Given the description of an element on the screen output the (x, y) to click on. 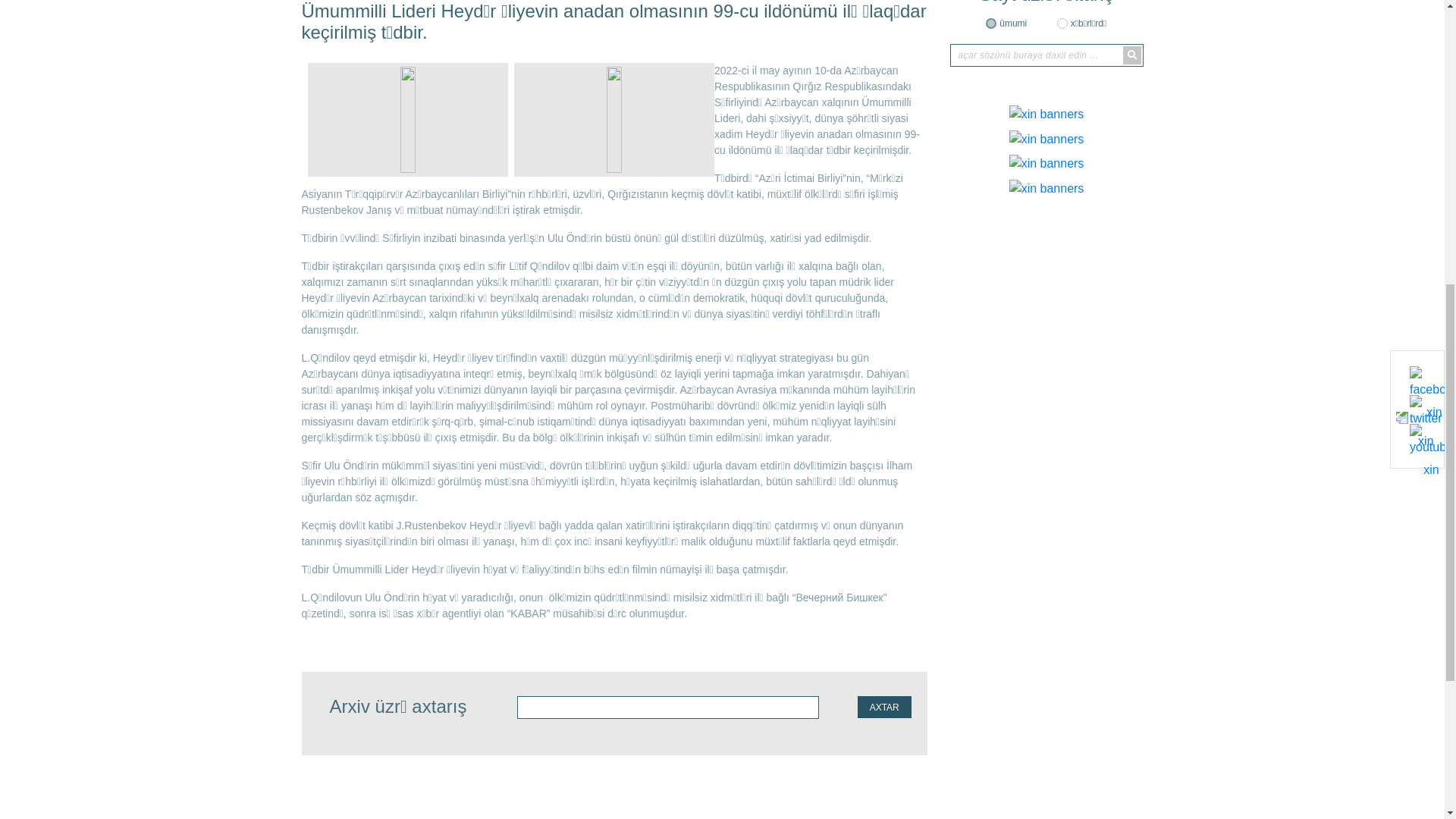
RU Element type: text (1131, 86)
AZ Element type: text (1108, 86)
